Given the description of an element on the screen output the (x, y) to click on. 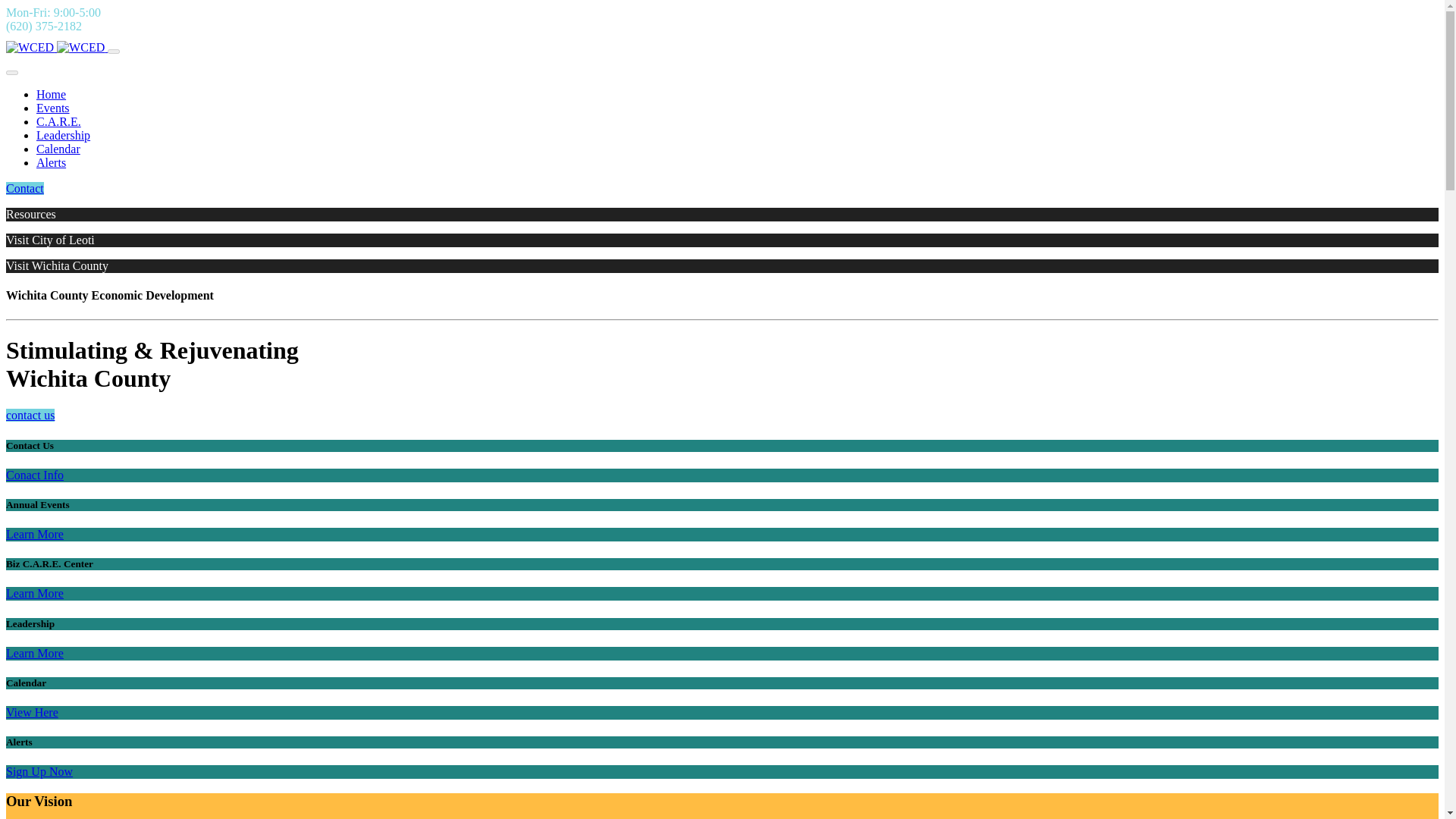
Home (50, 93)
Sign Up Now (38, 771)
Learn More (34, 533)
Learn More (34, 593)
Conact Info (34, 474)
Events (52, 107)
contact us (30, 414)
C.A.R.E. (58, 121)
Alerts (50, 162)
Learn More (34, 653)
Leadership (63, 134)
Contact (24, 187)
View Here (31, 712)
Calendar (58, 148)
